Given the description of an element on the screen output the (x, y) to click on. 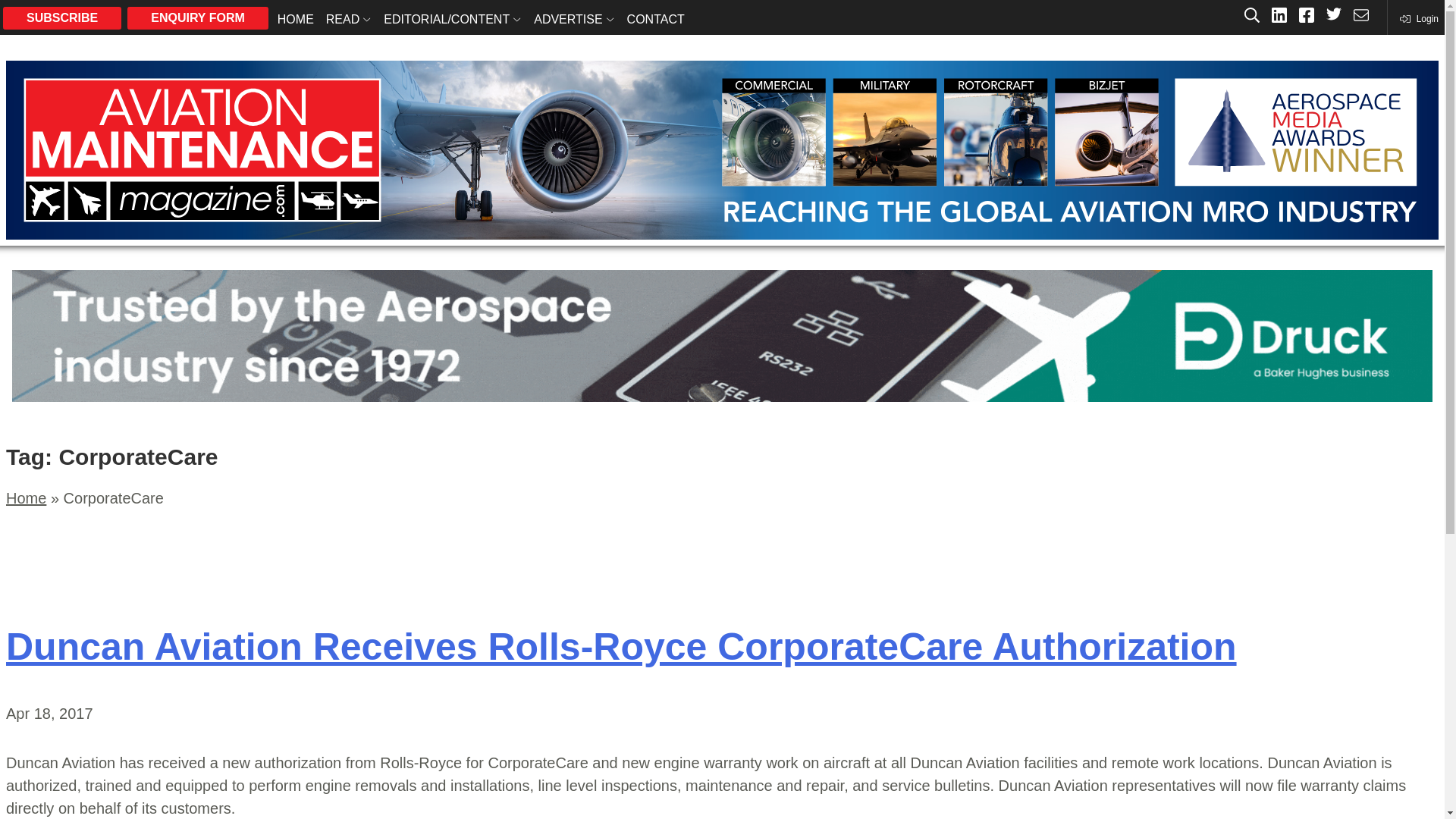
READ (348, 18)
Login (1418, 18)
SUBSCRIBE (61, 16)
Aviation Maintenance Magazine LinkedIn Company Page (1279, 17)
login-icon (1418, 18)
CONTACT (655, 18)
ENQUIRY FORM (197, 16)
HOME (295, 18)
Aviation Maintenance Magazine Twitter Page (1333, 17)
ADVERTISE (573, 18)
Home (25, 497)
Aviation Maintenance Magazine Email Address (1361, 17)
Aviation Maintenance Magazine Facebook Page (1306, 17)
